Given the description of an element on the screen output the (x, y) to click on. 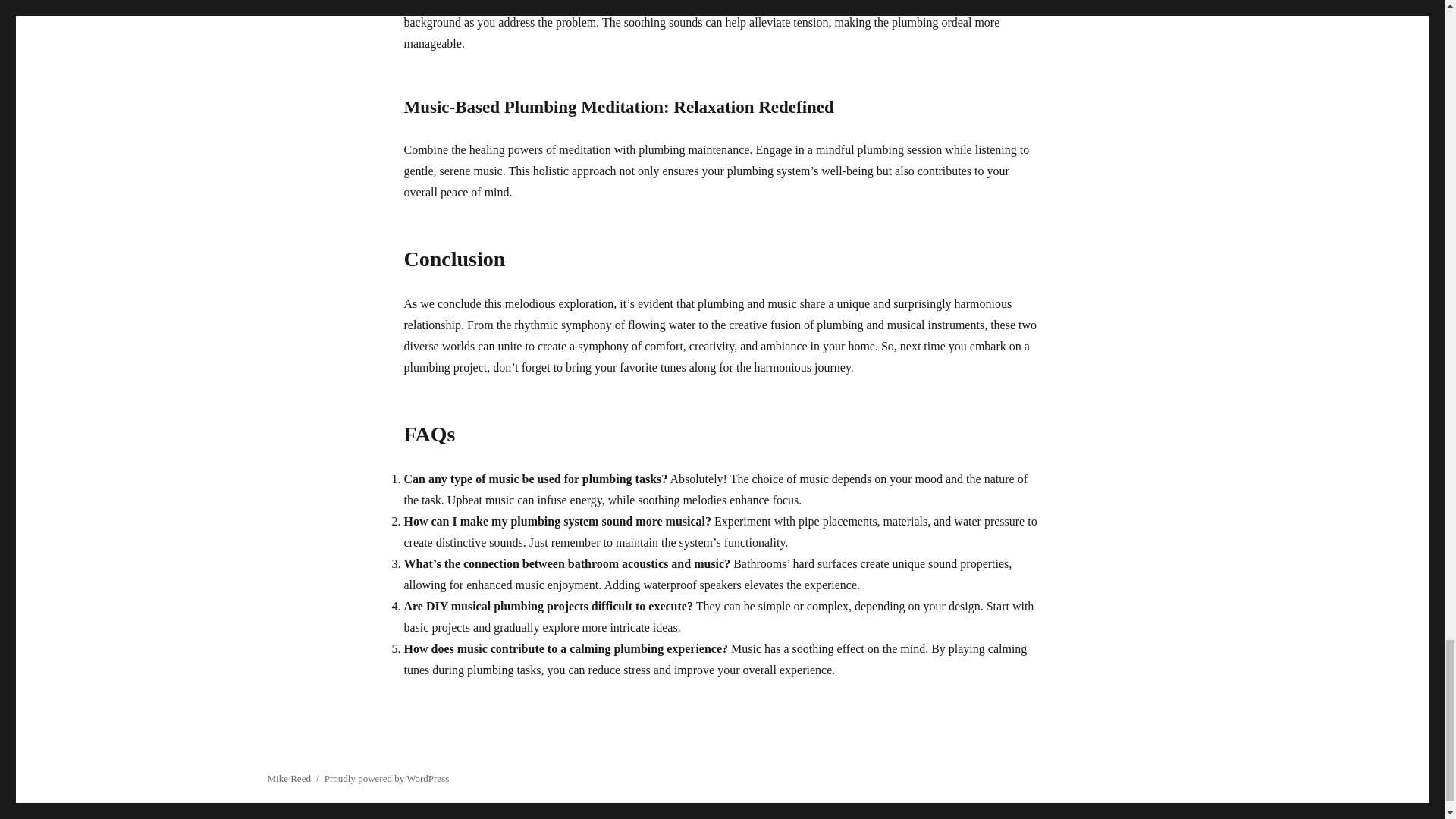
Mike Reed (288, 778)
Proudly powered by WordPress (386, 778)
